Given the description of an element on the screen output the (x, y) to click on. 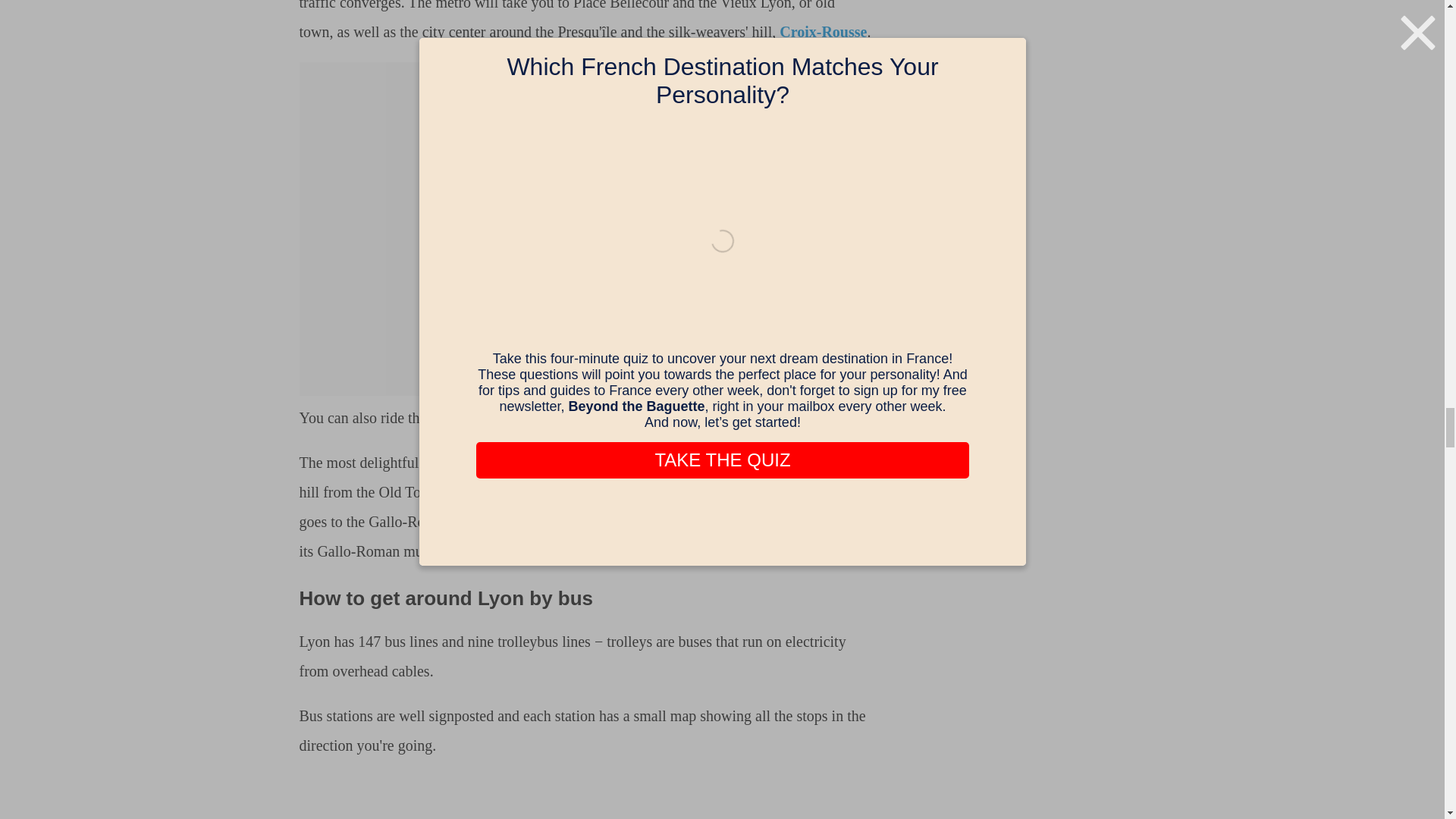
Lyon bus station (585, 797)
